Given the description of an element on the screen output the (x, y) to click on. 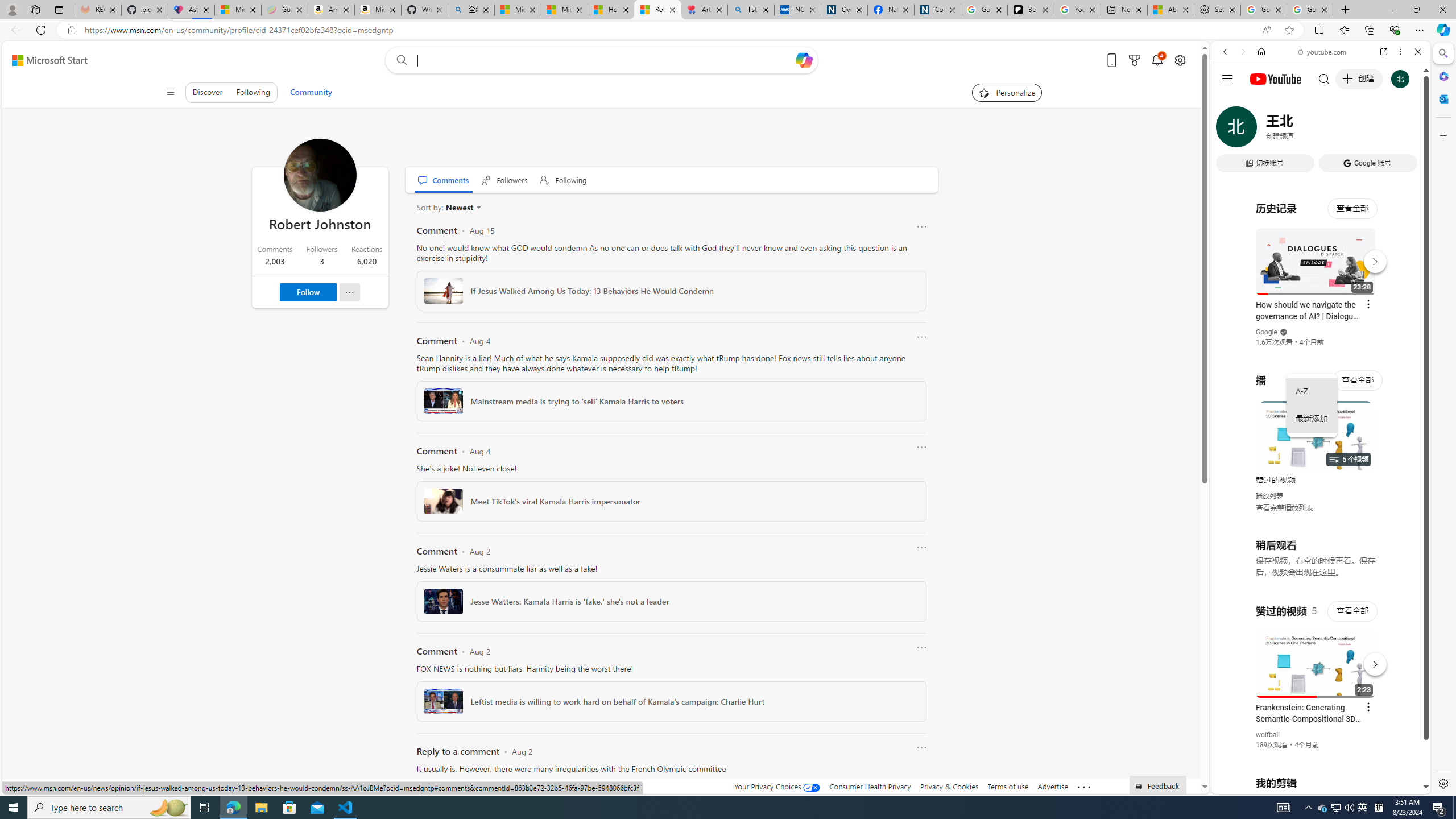
Community (310, 92)
Report profile (349, 292)
YouTube - YouTube (1315, 560)
